Given the description of an element on the screen output the (x, y) to click on. 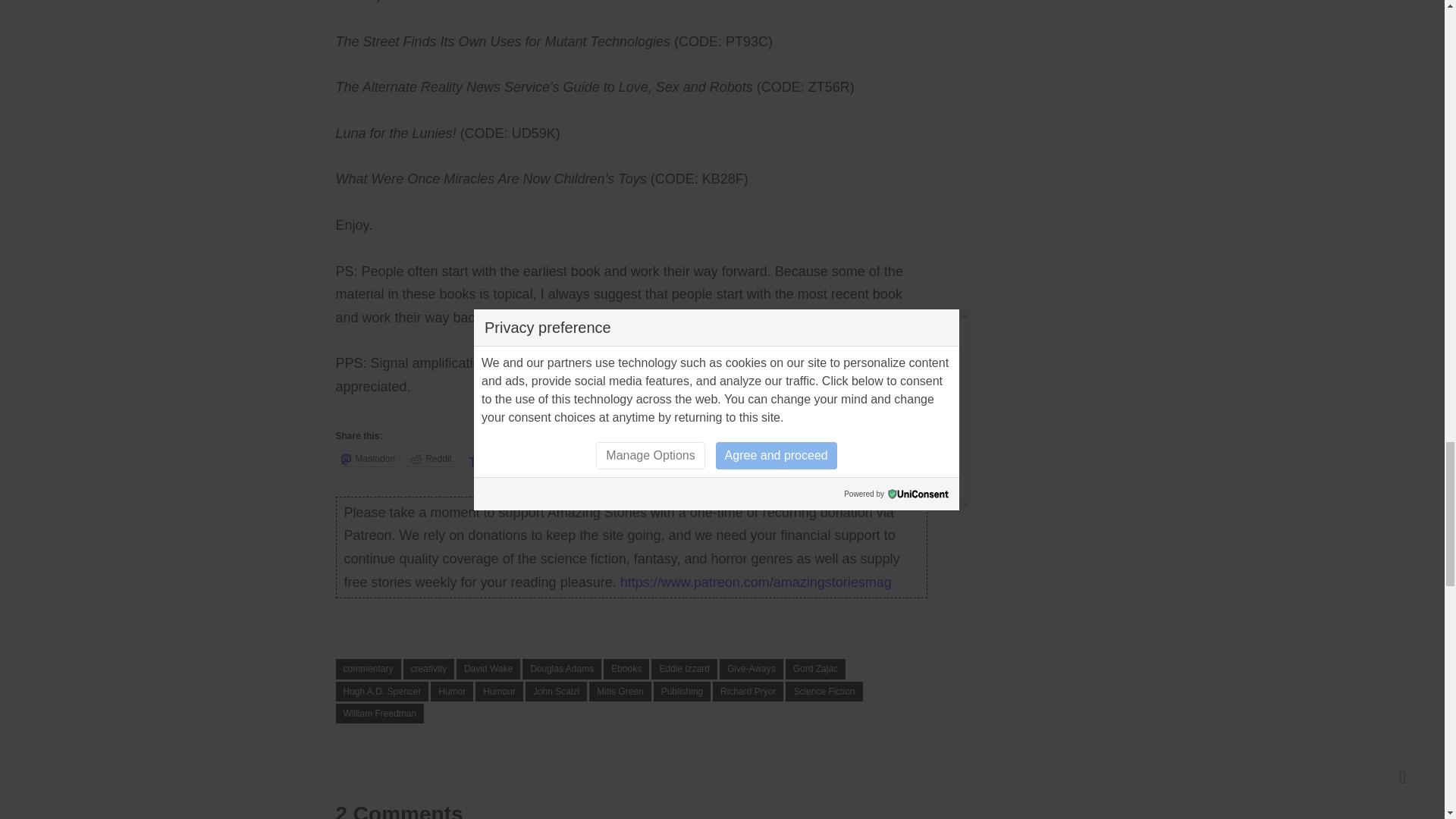
Click to share on Reddit (431, 458)
Click to email a link to a friend (781, 458)
Share on Tumblr (561, 458)
Click to print (729, 458)
Click to share on WhatsApp (668, 458)
Click to share on Mastodon (366, 458)
